Given the description of an element on the screen output the (x, y) to click on. 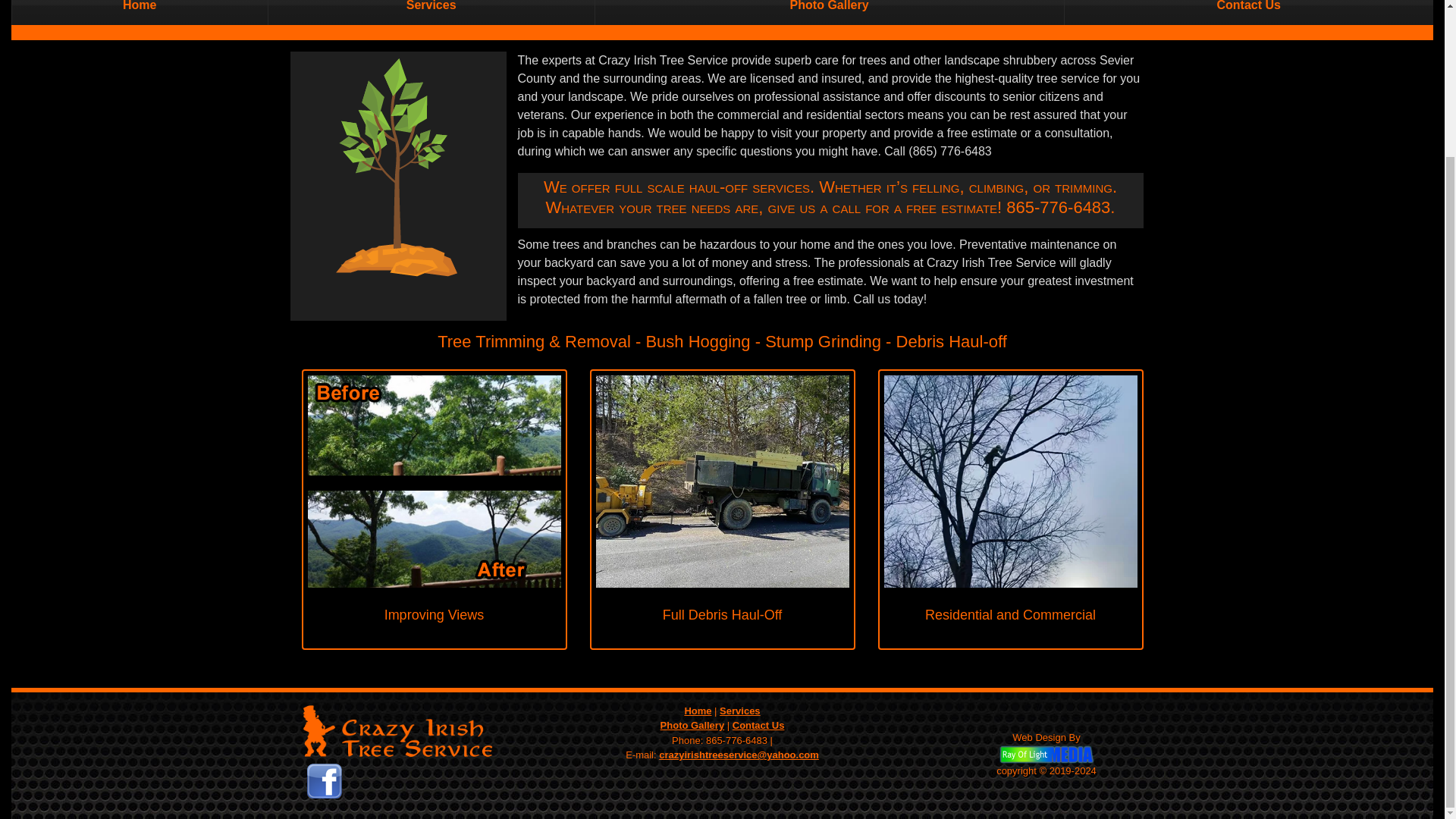
Services (739, 710)
Home (697, 710)
Contact Us (1247, 12)
Crazy Irish Tree Service, Tree Service, Dandridge, TN (406, 781)
Home (139, 12)
Photo Gallery (693, 725)
Photo Gallery (829, 12)
Contact Us (758, 725)
Services (430, 12)
